Given the description of an element on the screen output the (x, y) to click on. 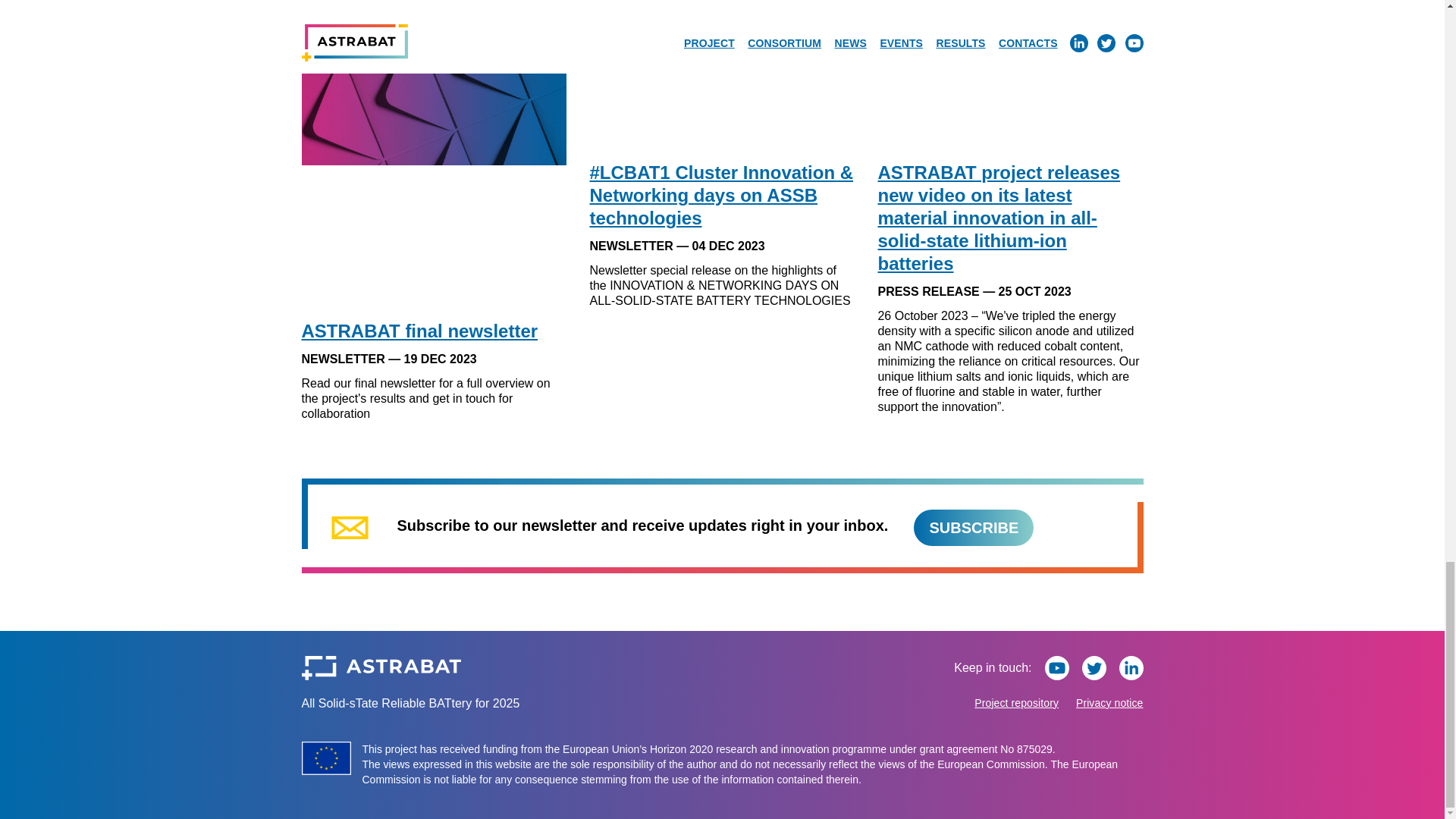
SUBSCRIBE (973, 527)
EU Flag (325, 758)
Project repository (1016, 702)
Privacy notice (1108, 702)
Astrabat (381, 668)
